Given the description of an element on the screen output the (x, y) to click on. 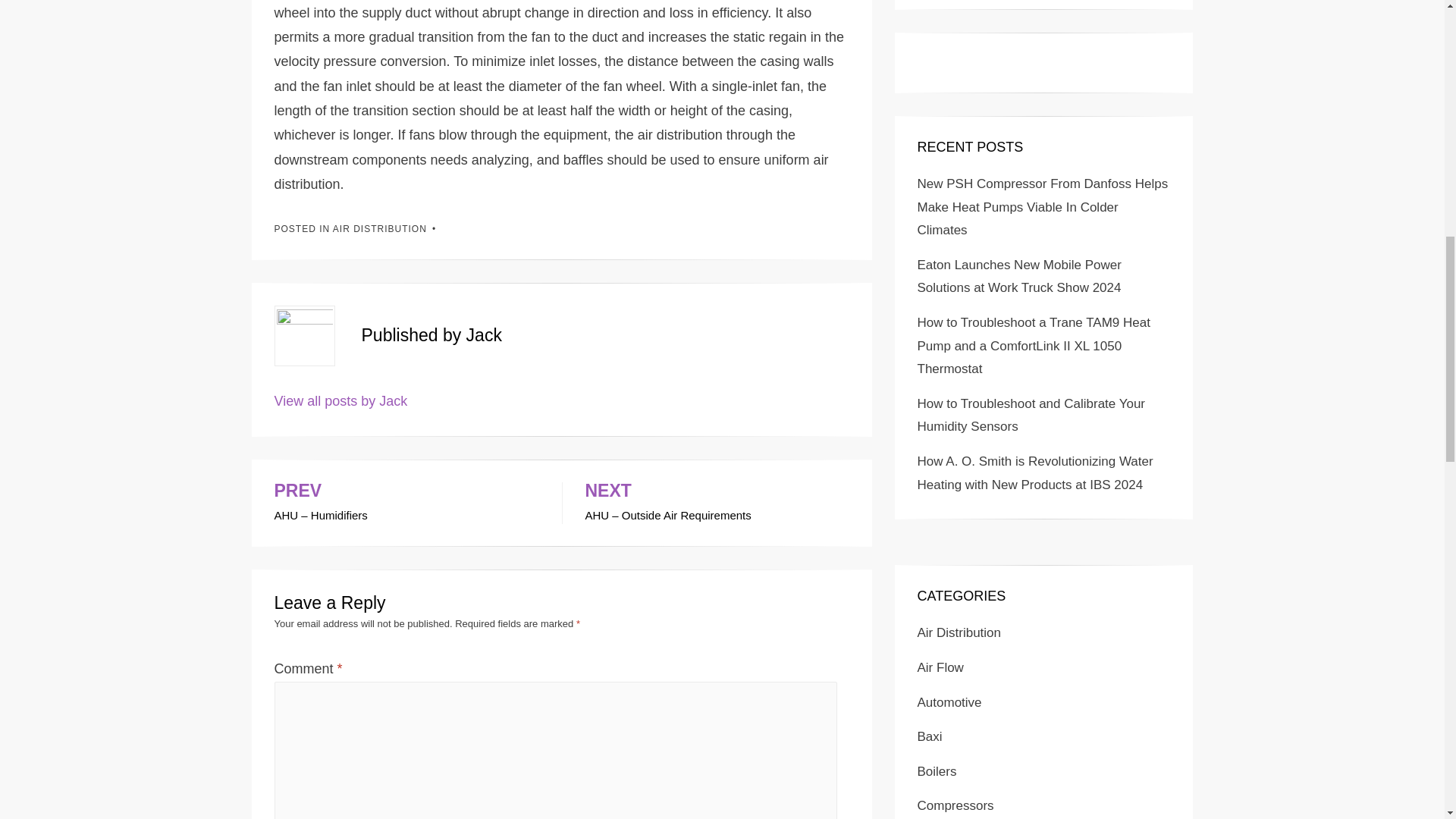
Boilers (936, 771)
How to Troubleshoot and Calibrate Your Humidity Sensors (1031, 415)
Baxi (929, 736)
Air Distribution (959, 632)
Air Flow (940, 667)
Compressors (955, 805)
AIR DISTRIBUTION (379, 228)
Automotive (949, 702)
View all posts by Jack (341, 400)
